Given the description of an element on the screen output the (x, y) to click on. 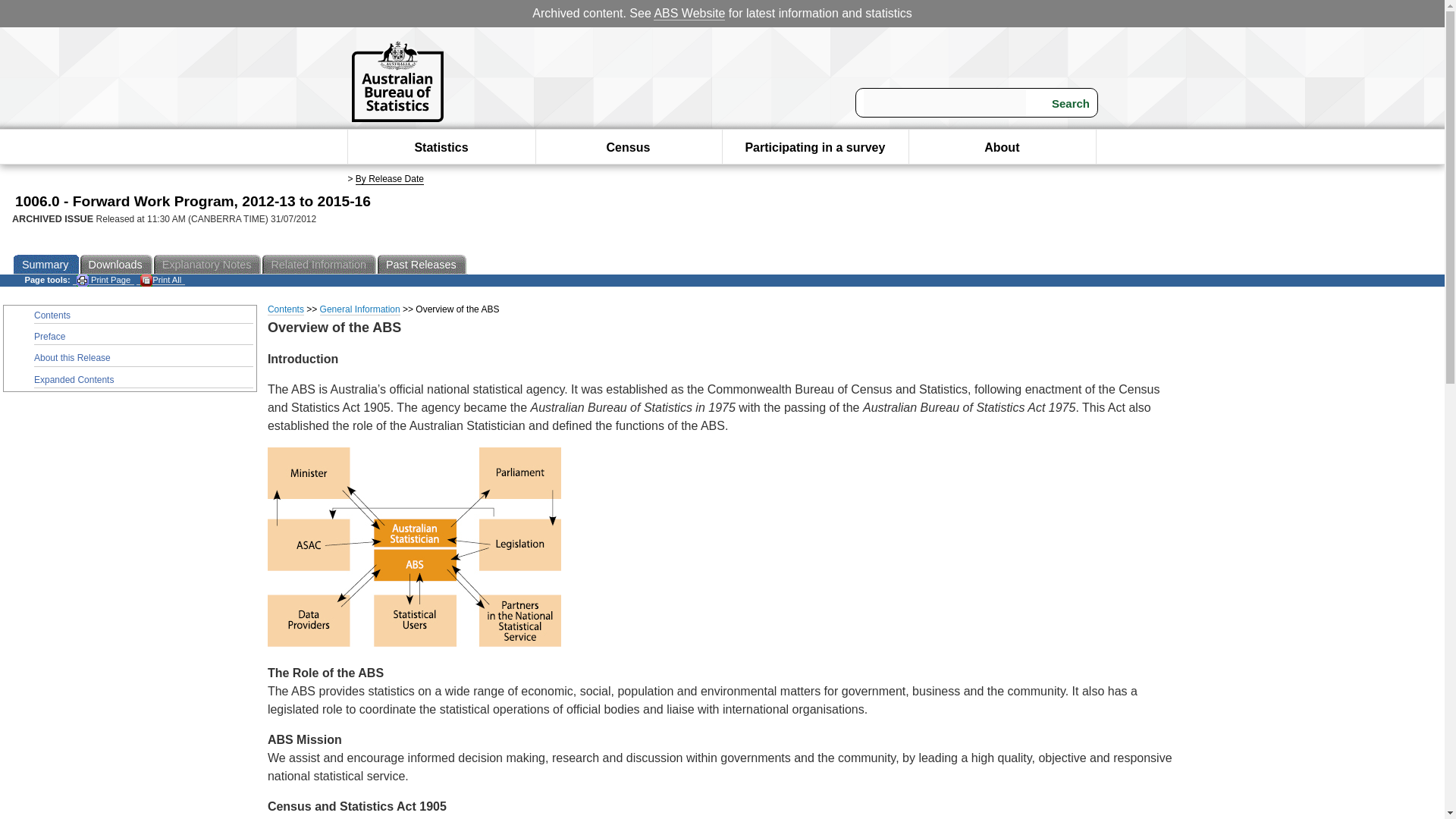
Preface (143, 337)
About this Release (143, 358)
Print All (160, 280)
Summary (46, 264)
Explanatory Notes (208, 264)
About (1001, 147)
By Release Date (389, 179)
General Information (360, 309)
Downloads (117, 264)
ABS Website (689, 13)
Search (1060, 102)
Search (1060, 102)
Contents (285, 309)
Print All (160, 280)
Related Information (319, 264)
